Given the description of an element on the screen output the (x, y) to click on. 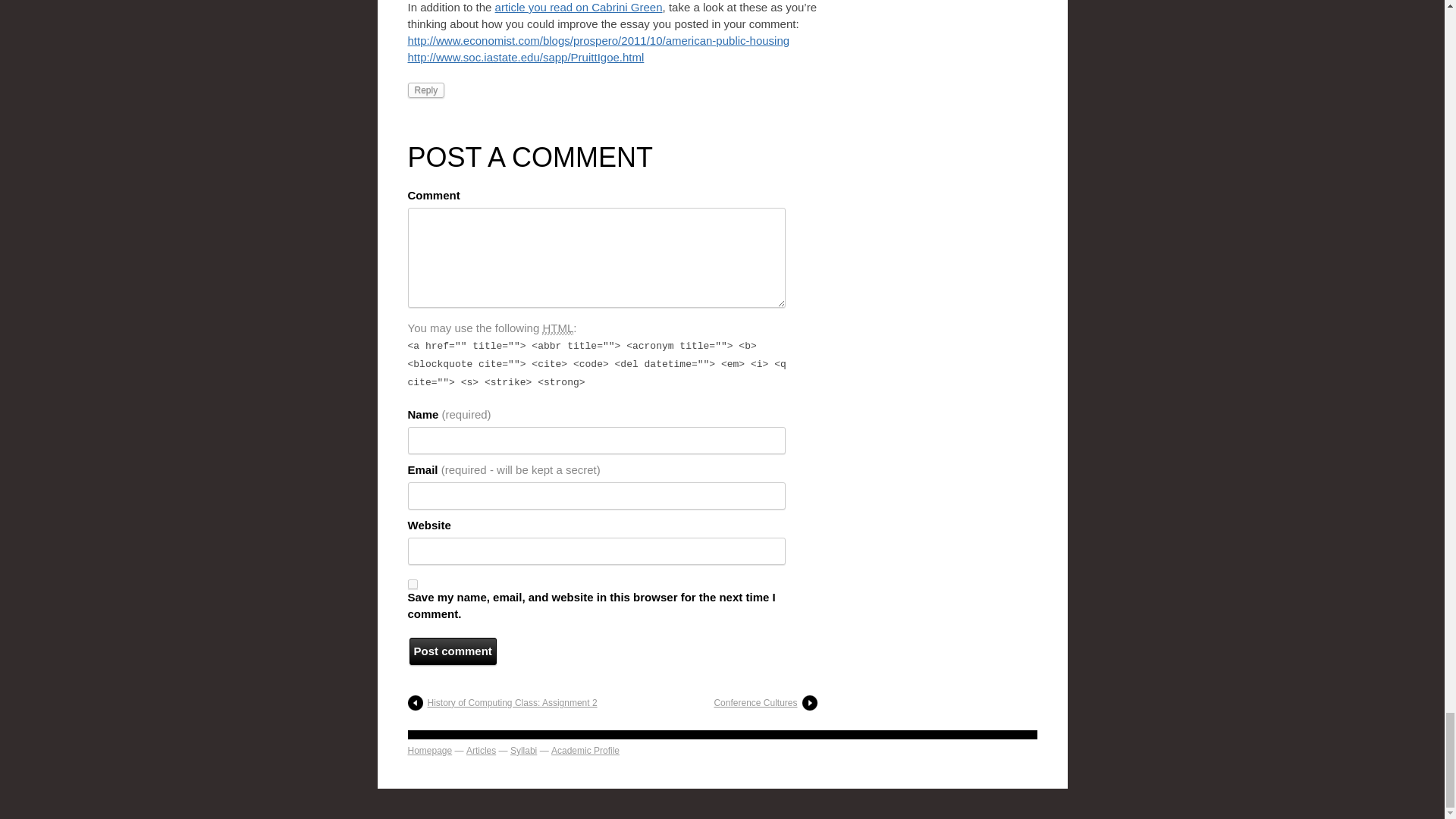
article you read on Cabrini Green (578, 6)
yes (412, 583)
Reply (426, 89)
Post comment (452, 651)
Conference Cultures (764, 702)
HyperText Markup Language (557, 327)
Post comment (452, 651)
History of Computing Class: Assignment 2 (501, 702)
